Given the description of an element on the screen output the (x, y) to click on. 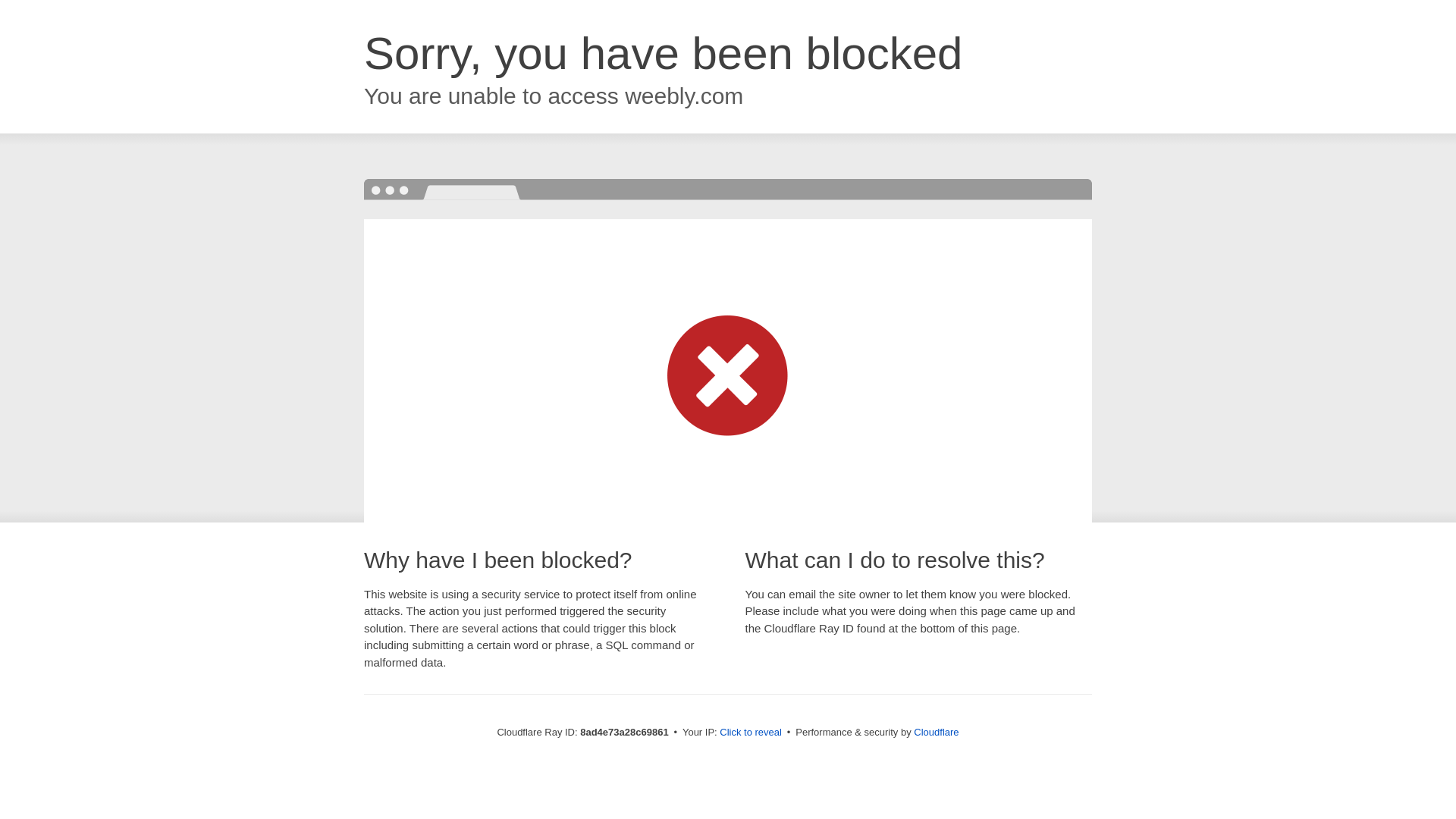
Cloudflare (936, 731)
Click to reveal (750, 732)
